Given the description of an element on the screen output the (x, y) to click on. 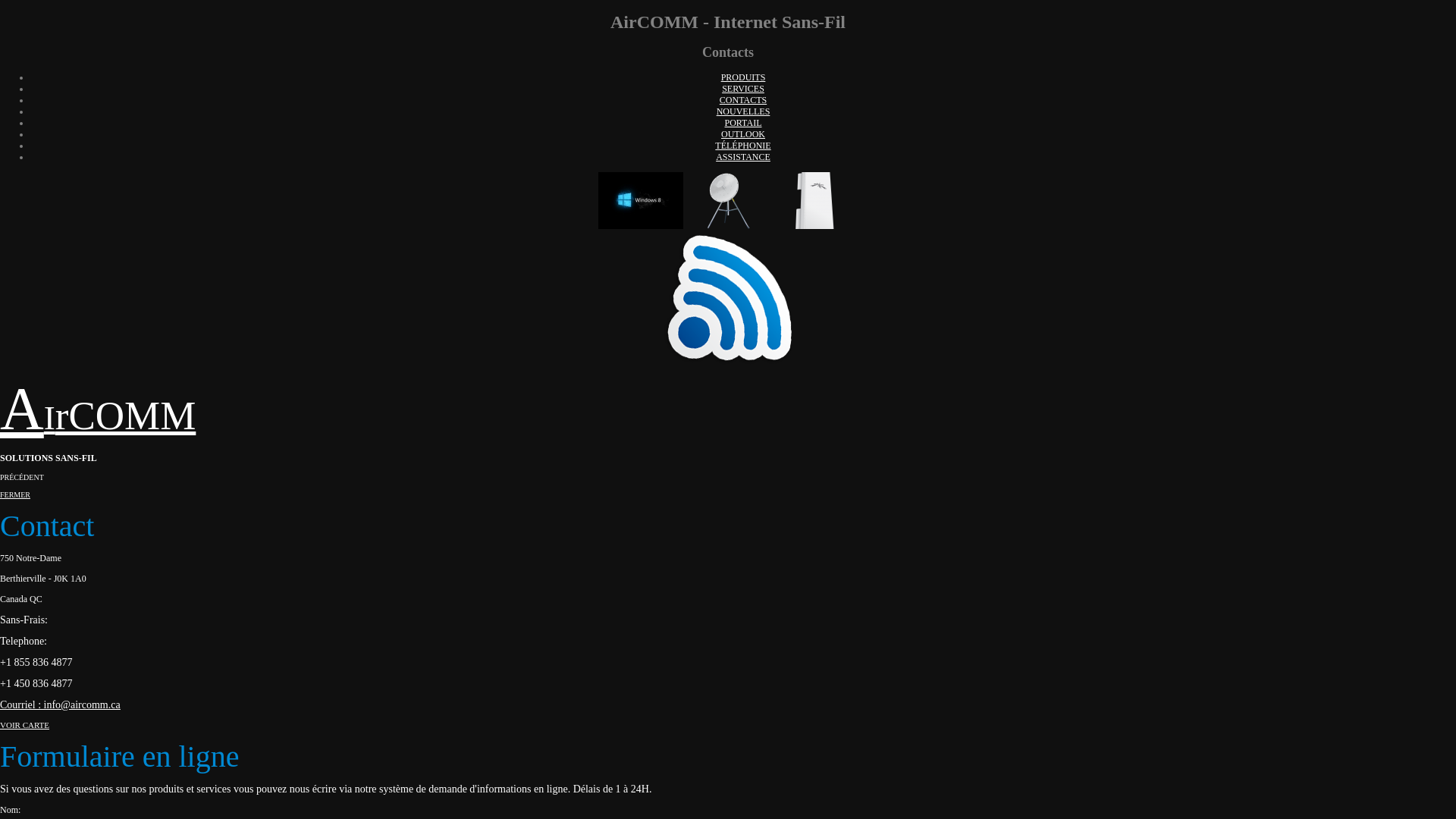
I Element type: text (49, 417)
NOUVELLES Element type: text (743, 111)
PORTAIL Element type: text (743, 122)
OUTLOOK Element type: text (743, 133)
SERVICES Element type: text (742, 88)
rCOMM Element type: text (125, 415)
Courriel : info@aircomm.ca Element type: text (60, 704)
CONTACTS Element type: text (742, 99)
A Element type: text (21, 408)
ASSISTANCE Element type: text (742, 156)
PRODUITS Element type: text (743, 77)
